Given the description of an element on the screen output the (x, y) to click on. 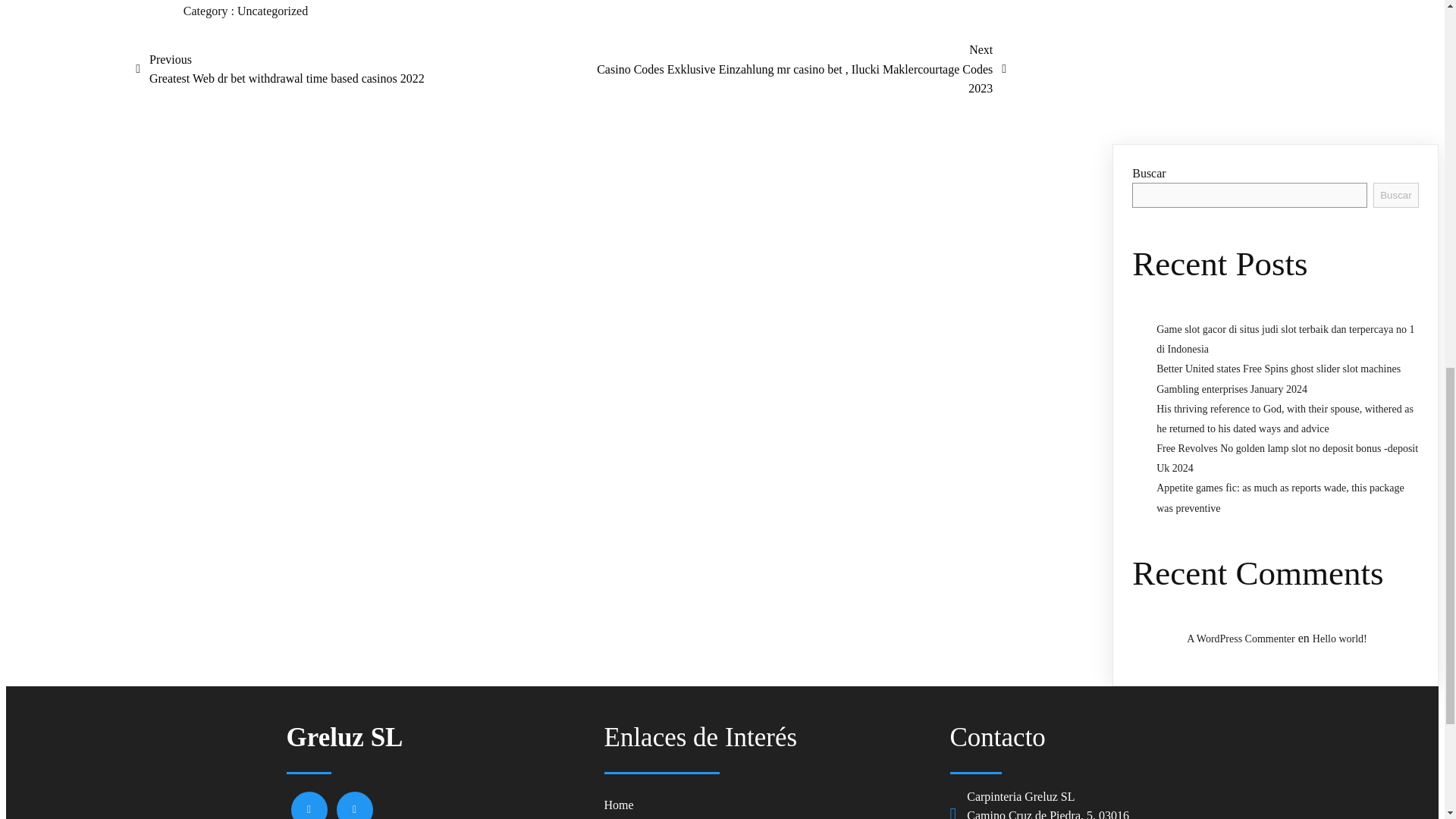
A WordPress Commenter (1240, 638)
Uncategorized (272, 10)
Greluz SL (437, 737)
Hello world! (1340, 638)
Buscar (1395, 195)
